Given the description of an element on the screen output the (x, y) to click on. 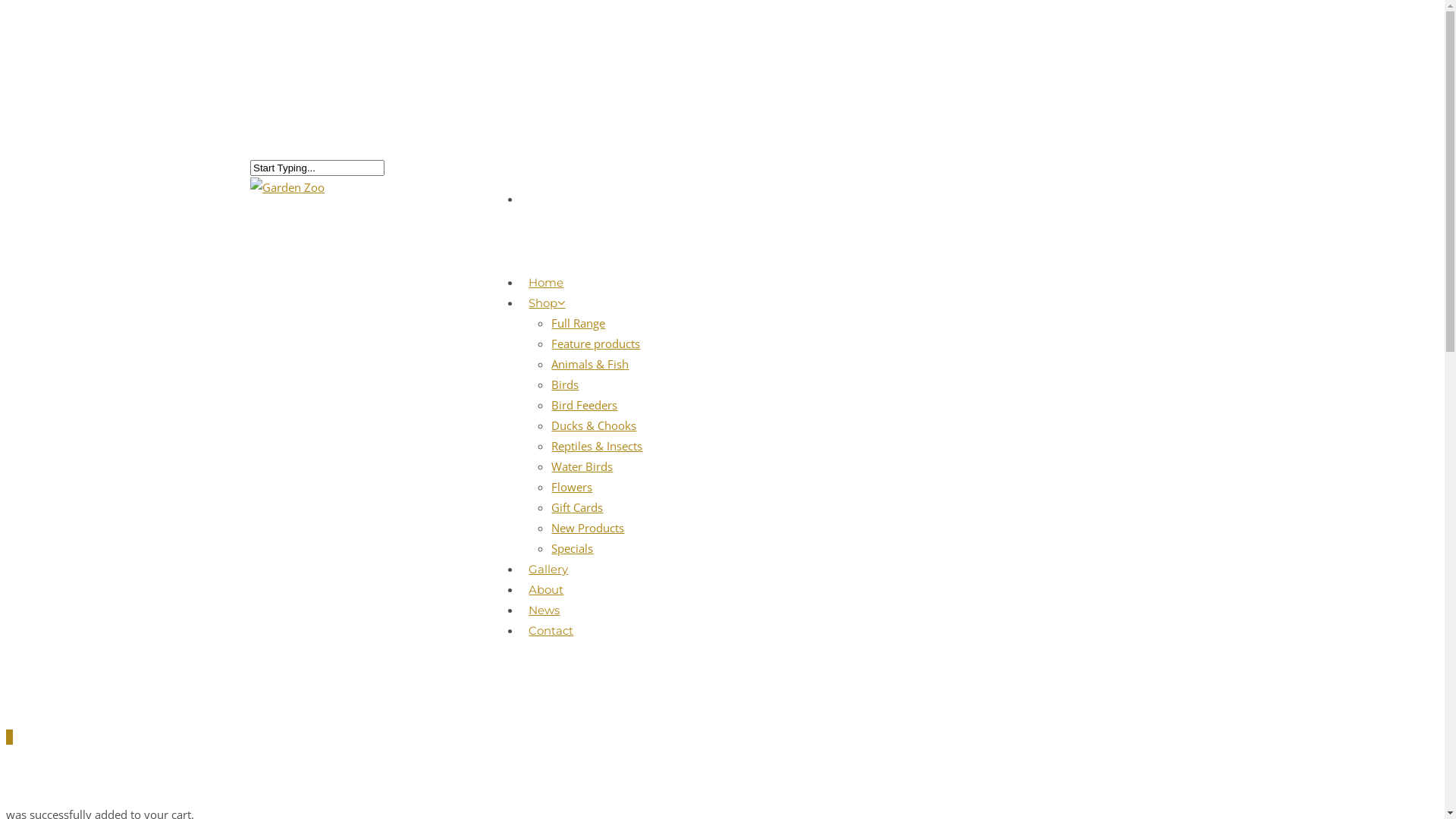
Reptiles & Insects Element type: text (596, 445)
Feature products Element type: text (595, 343)
New Products Element type: text (587, 527)
Specials Element type: text (572, 547)
Gallery Element type: text (547, 579)
0 Element type: text (722, 737)
Gift Cards Element type: text (576, 506)
Shop Element type: text (546, 313)
Animals & Fish Element type: text (589, 363)
Ducks & Chooks Element type: text (593, 425)
Full Range Element type: text (578, 322)
Flowers Element type: text (571, 486)
Water Birds Element type: text (581, 465)
Contact Element type: text (550, 640)
About Element type: text (545, 599)
Birds Element type: text (564, 384)
News Element type: text (543, 620)
Home Element type: text (545, 292)
Bird Feeders Element type: text (584, 404)
